Given the description of an element on the screen output the (x, y) to click on. 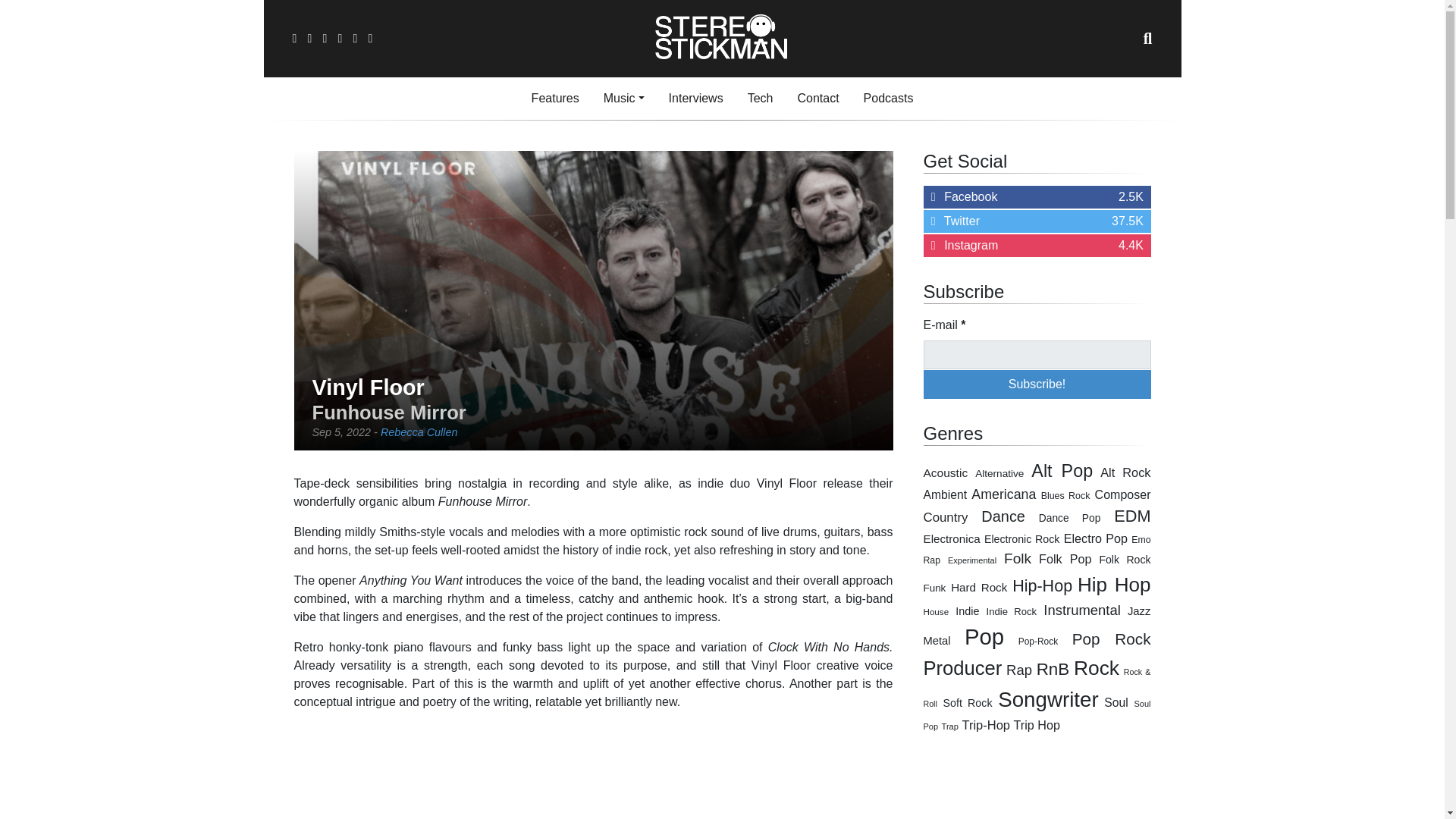
Music (623, 98)
Tech (760, 98)
Subscribe! (1037, 384)
Contact (817, 98)
Podcasts (888, 98)
Subscribe! (1037, 384)
Features (555, 98)
Interviews (1037, 196)
Music (695, 98)
